Given the description of an element on the screen output the (x, y) to click on. 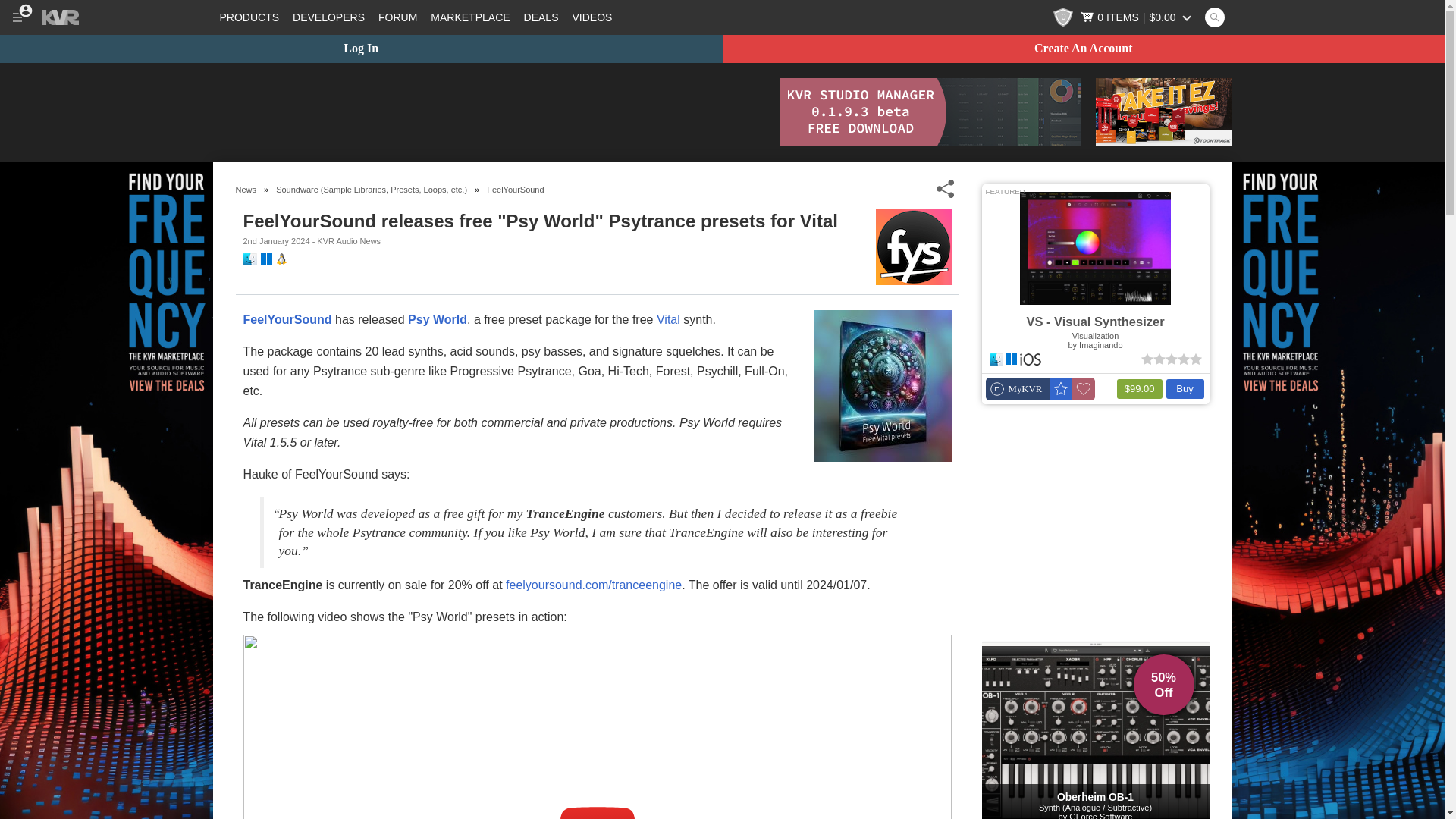
Toontrack - Take-It-EZ (1162, 111)
3rd party ad content (488, 111)
Posts by KVR Audio News (348, 240)
Share This (945, 189)
Cart (1136, 17)
